Given the description of an element on the screen output the (x, y) to click on. 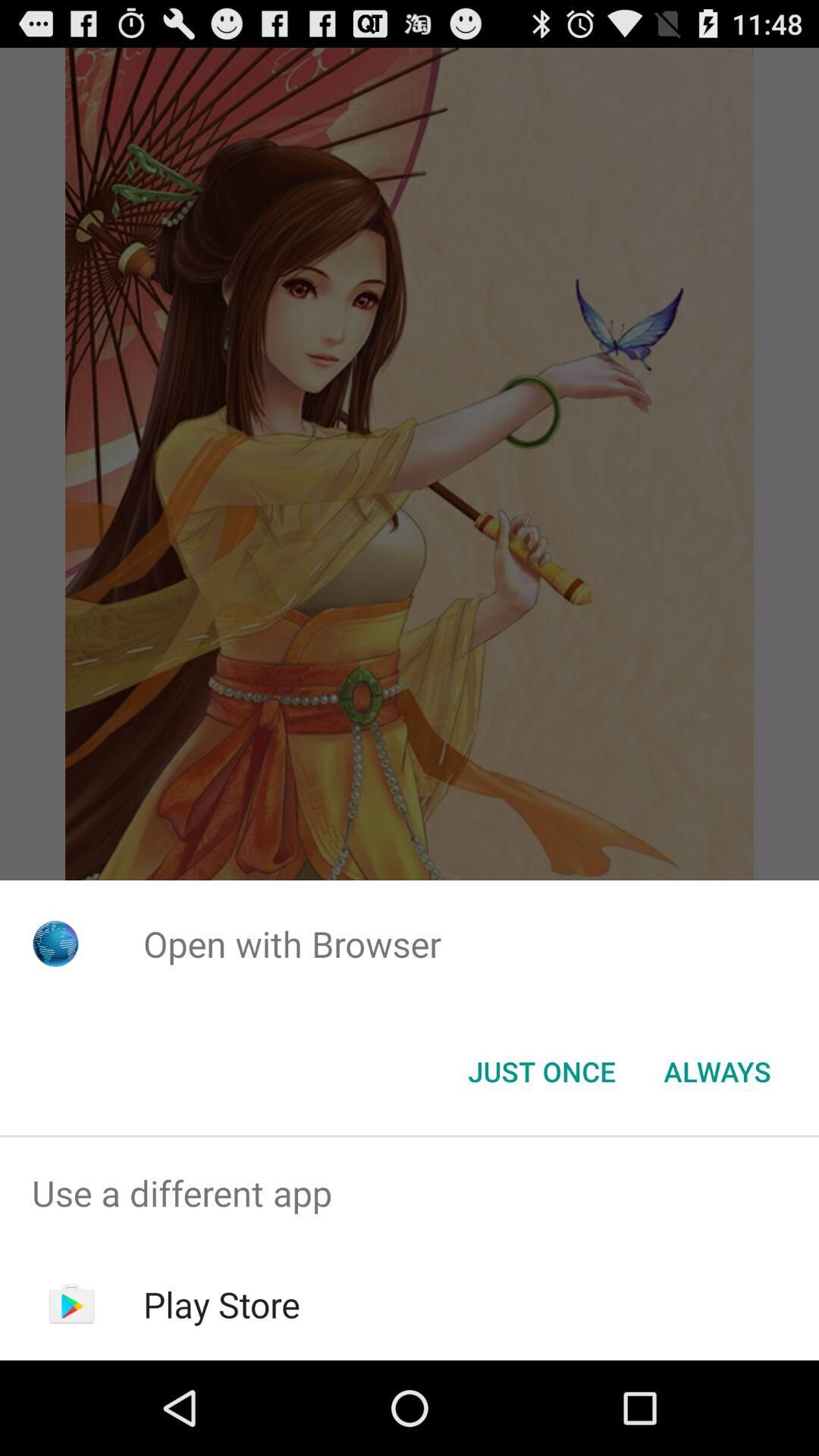
press app below open with browser app (717, 1071)
